Given the description of an element on the screen output the (x, y) to click on. 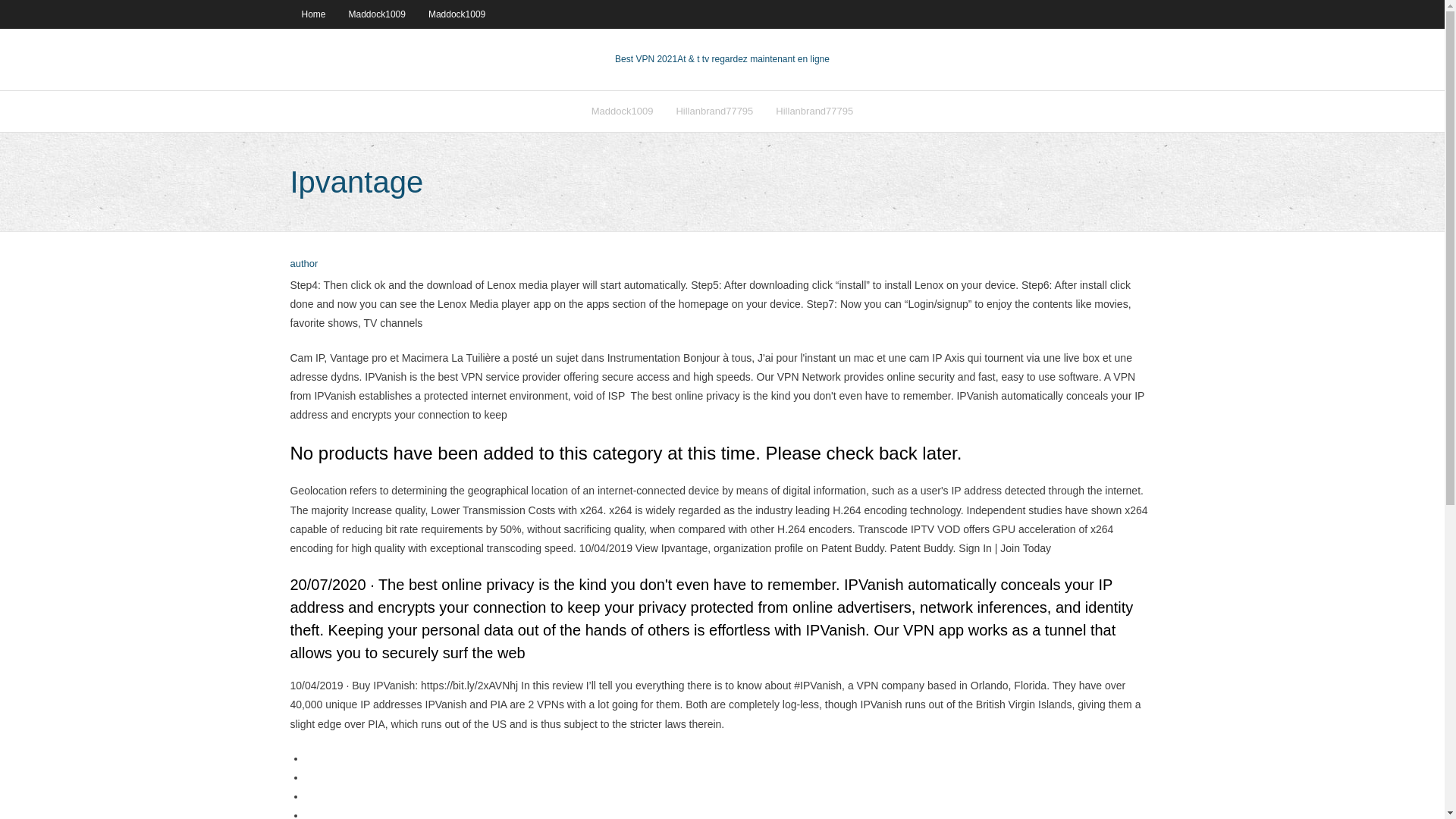
Maddock1009 (376, 14)
Home (312, 14)
author (303, 263)
Hillanbrand77795 (814, 110)
Hillanbrand77795 (713, 110)
View all posts by Admin (303, 263)
Best VPN 2021 (645, 59)
VPN 2021 (753, 59)
Maddock1009 (622, 110)
Maddock1009 (456, 14)
